Given the description of an element on the screen output the (x, y) to click on. 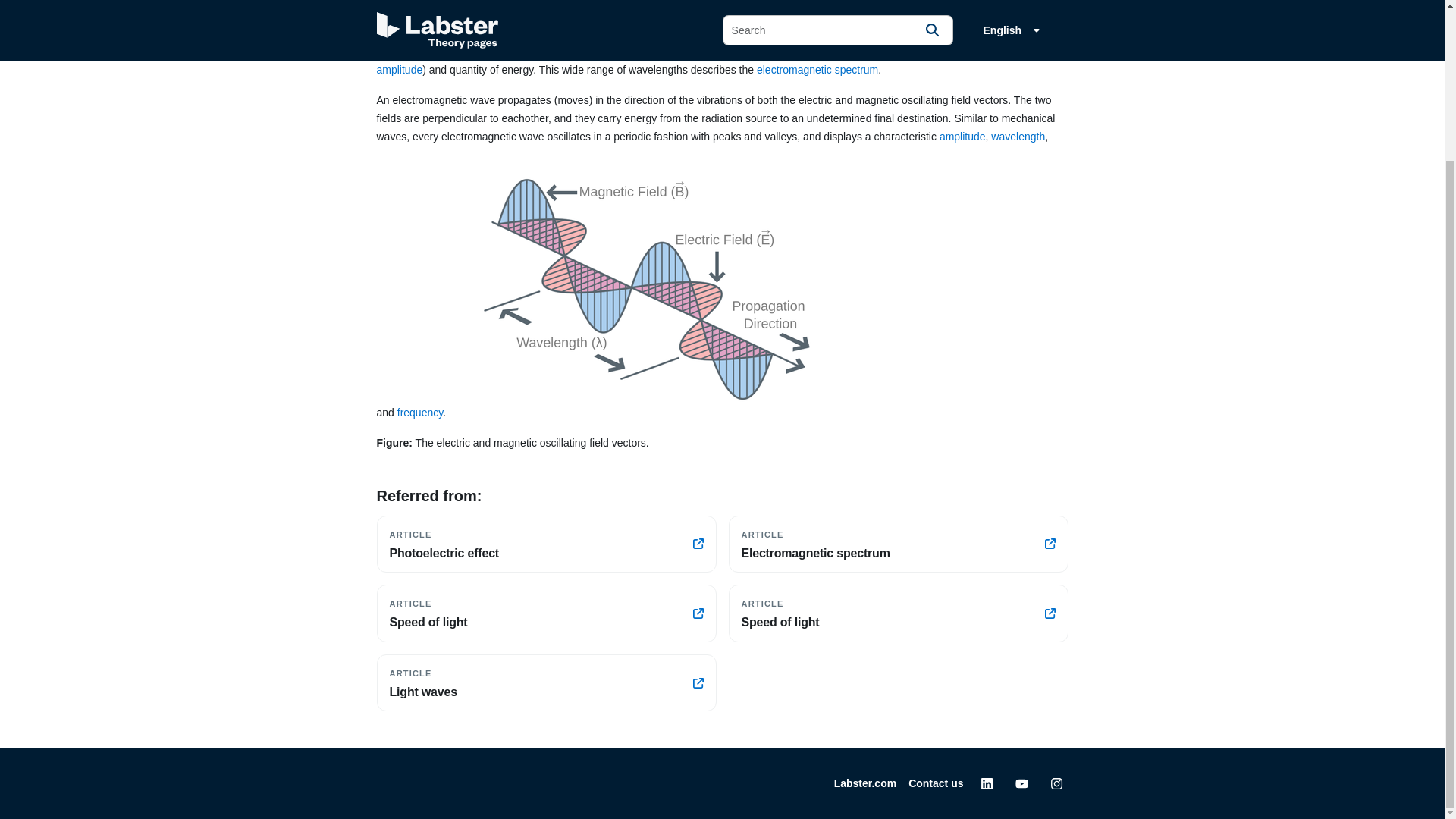
wavelength (897, 613)
electromagnetic spectrum (1018, 136)
Contact us (817, 69)
frequency (545, 613)
Labster.com (935, 782)
amplitude (419, 412)
amplitude (865, 782)
